Given the description of an element on the screen output the (x, y) to click on. 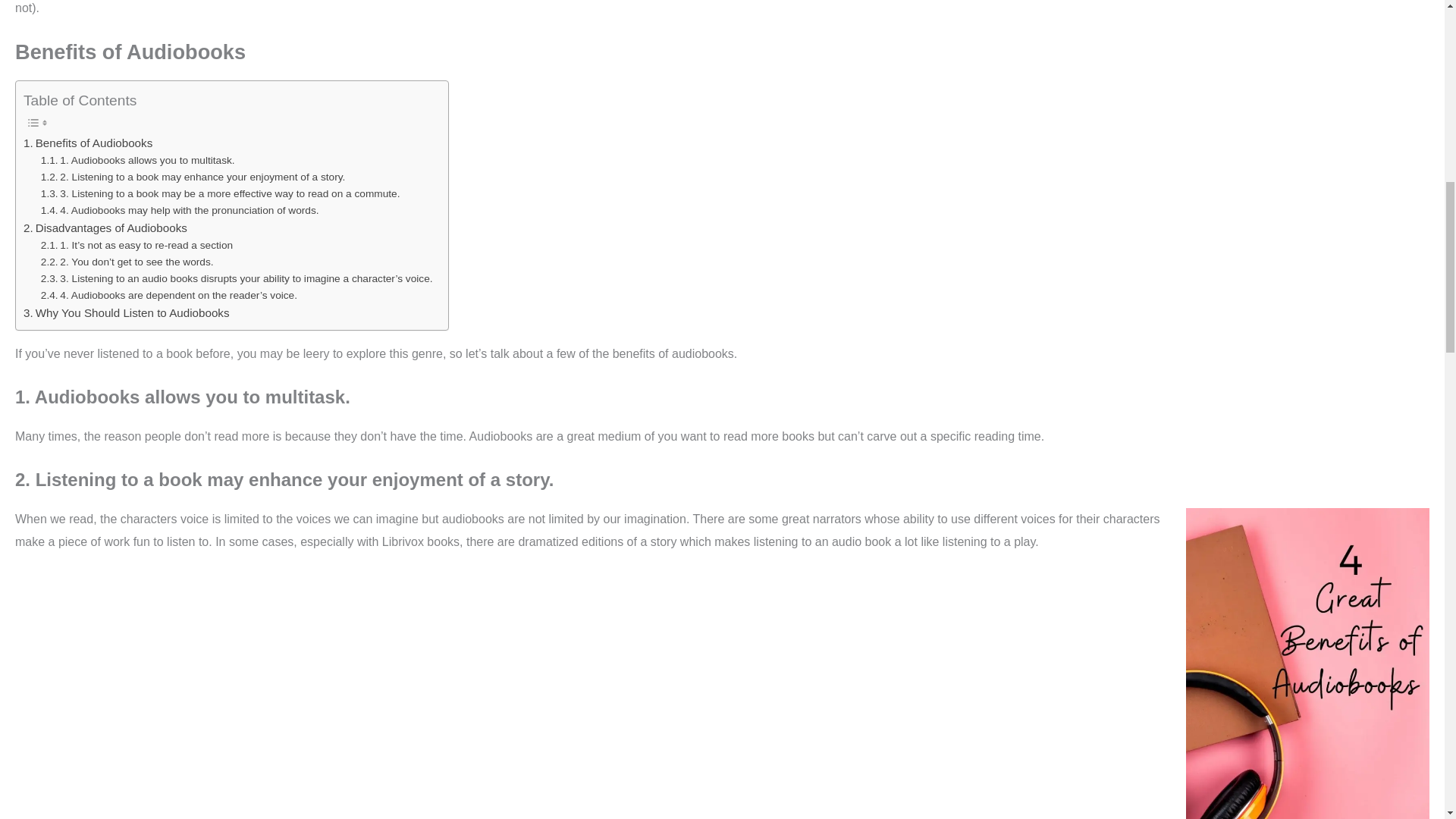
Disadvantages of Audiobooks (105, 228)
4. Audiobooks may help with the pronunciation of words. (179, 210)
Why You Should Listen to Audiobooks (126, 312)
Benefits of Audiobooks (87, 143)
1. Audiobooks allows you to multitask. (137, 160)
